Given the description of an element on the screen output the (x, y) to click on. 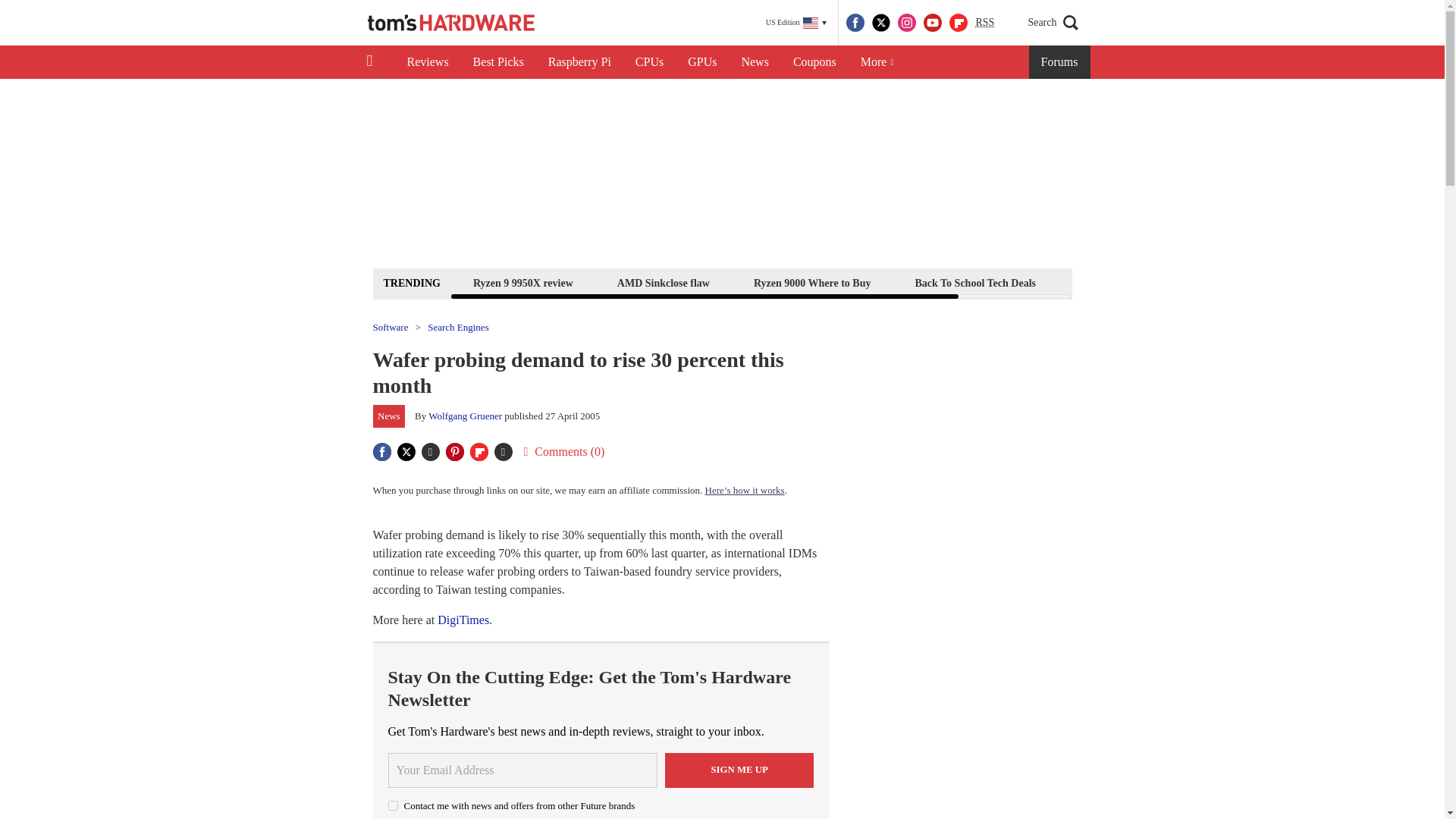
Coupons (814, 61)
Really Simple Syndication (984, 21)
Forums (1059, 61)
US Edition (796, 22)
GPUs (702, 61)
on (392, 805)
Sign me up (739, 769)
RSS (984, 22)
Reviews (427, 61)
Best Picks (498, 61)
